Given the description of an element on the screen output the (x, y) to click on. 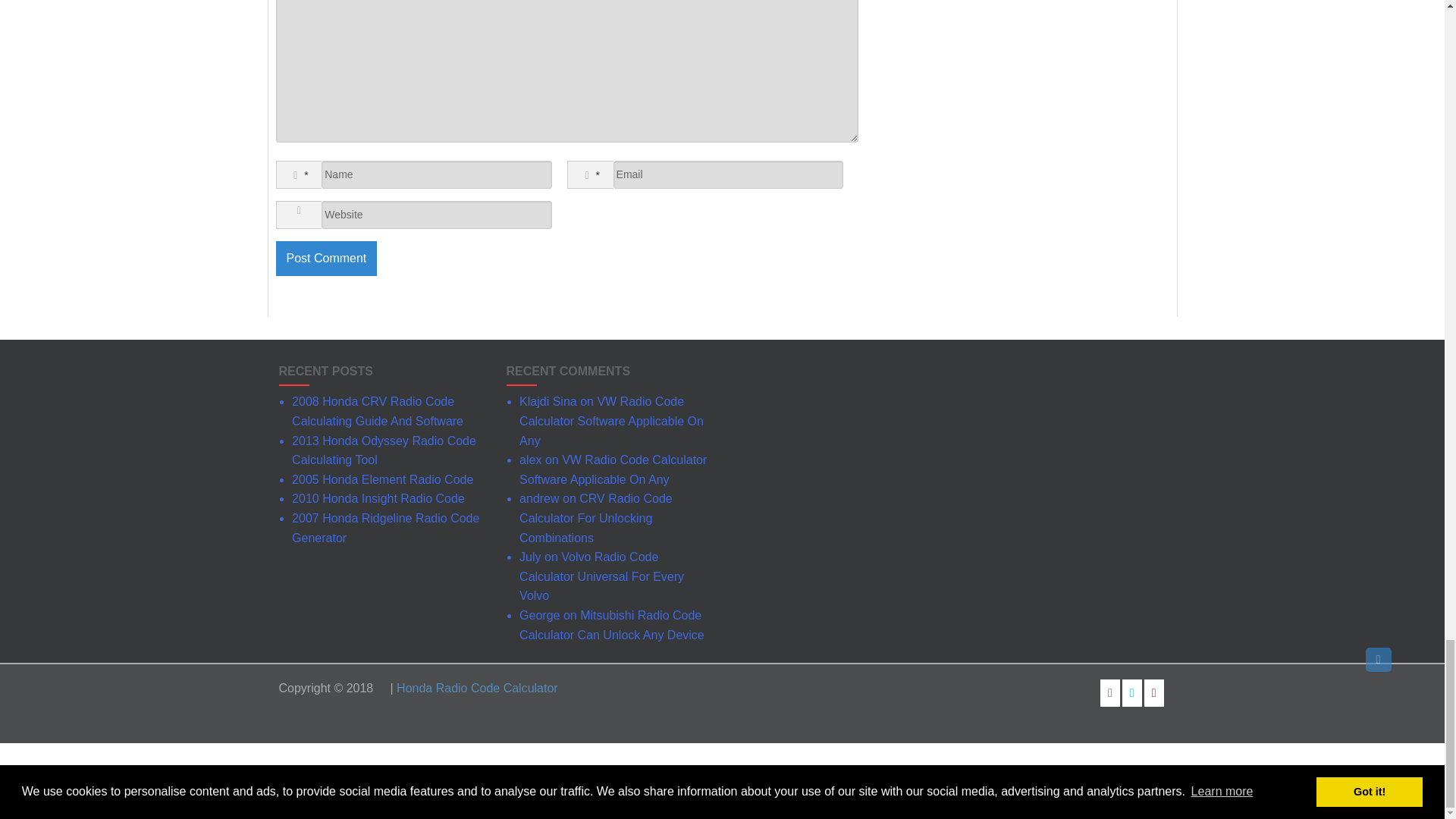
Post Comment (326, 258)
